Given the description of an element on the screen output the (x, y) to click on. 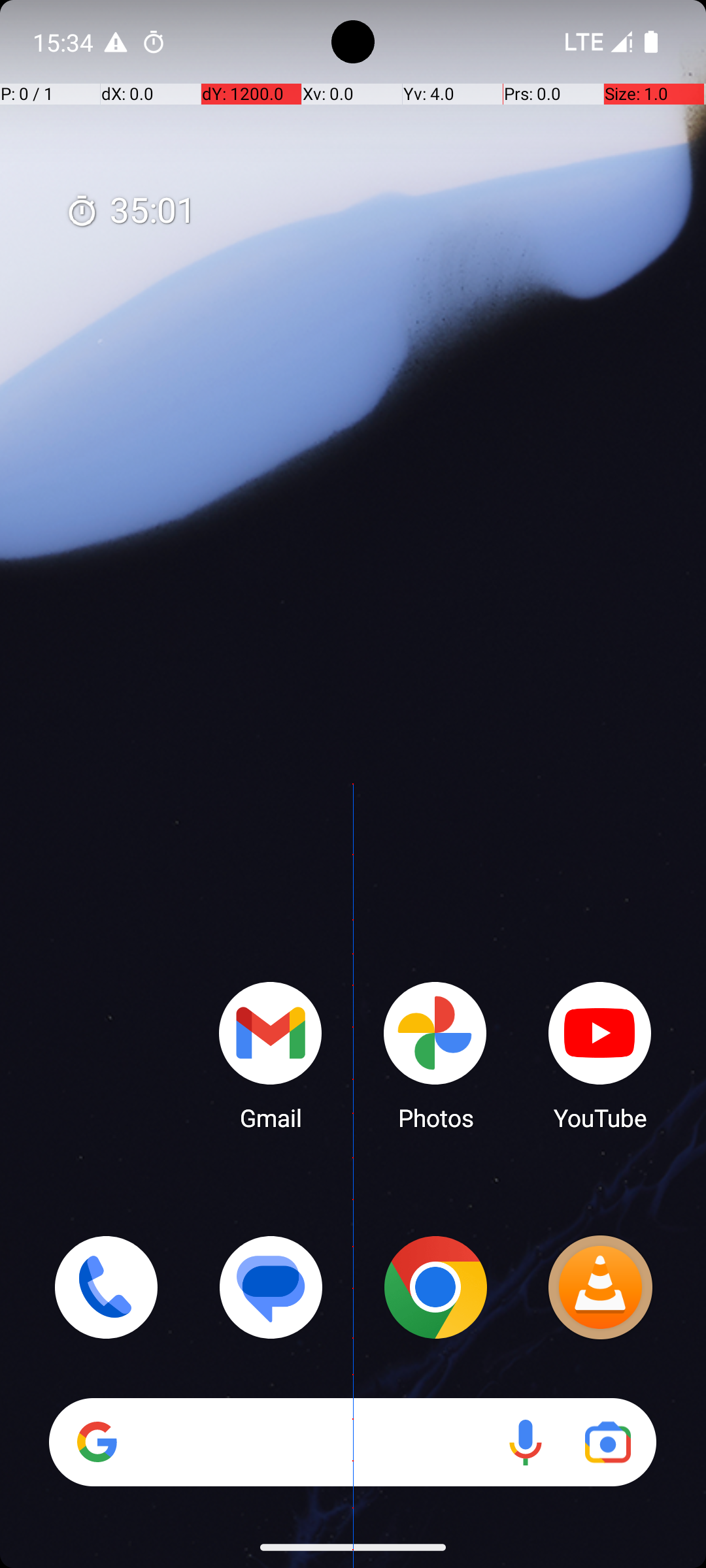
35:01 Element type: android.widget.TextView (130, 210)
